Given the description of an element on the screen output the (x, y) to click on. 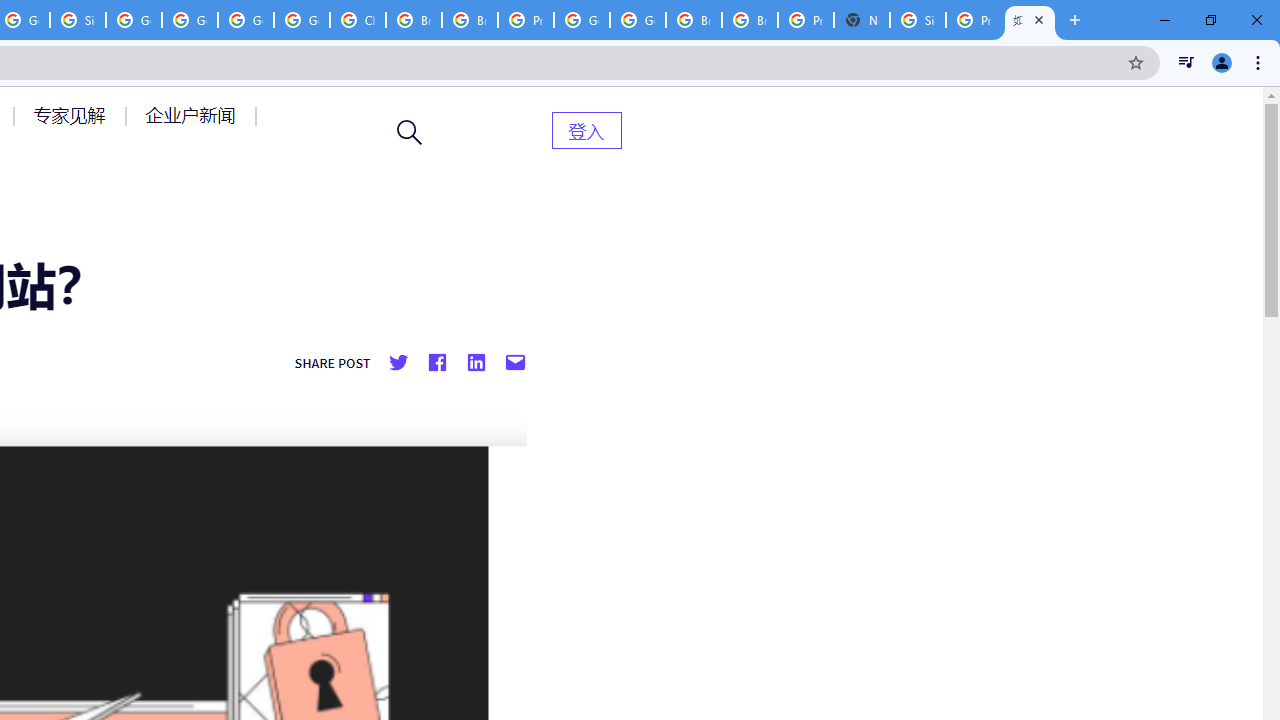
Browse Chrome as a guest - Computer - Google Chrome Help (749, 20)
Browse Chrome as a guest - Computer - Google Chrome Help (413, 20)
Sign in - Google Accounts (77, 20)
AutomationID: menu-item-77764 (72, 115)
AutomationID: menu-item-77765 (194, 115)
Open search form (410, 132)
Google Cloud Platform (637, 20)
Share on twitter (397, 363)
